Given the description of an element on the screen output the (x, y) to click on. 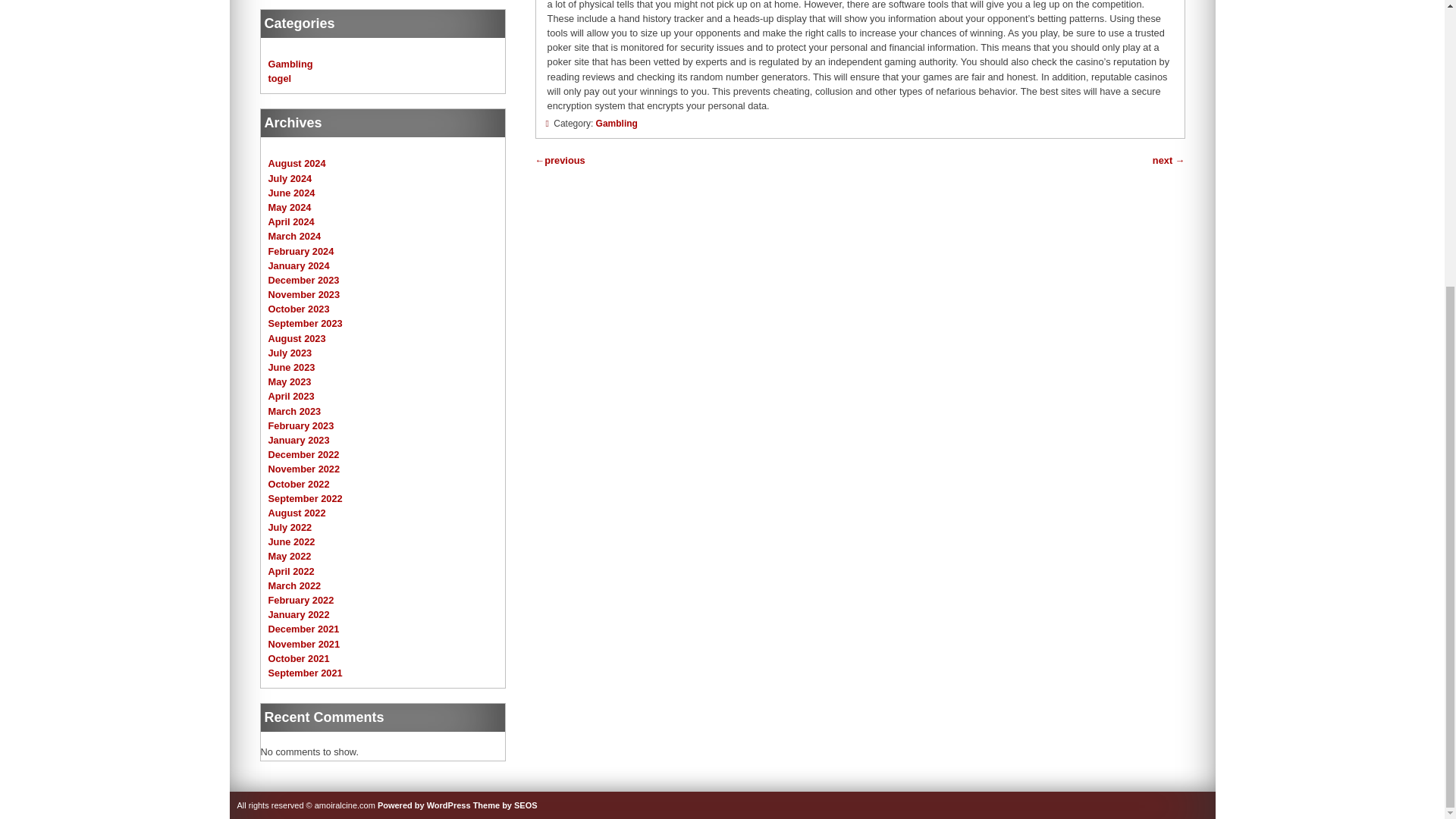
February 2023 (300, 425)
July 2023 (290, 352)
Gambling (616, 122)
February 2024 (300, 251)
October 2023 (298, 308)
March 2024 (294, 235)
November 2023 (303, 294)
August 2024 (296, 163)
April 2023 (290, 396)
January 2024 (298, 265)
